Given the description of an element on the screen output the (x, y) to click on. 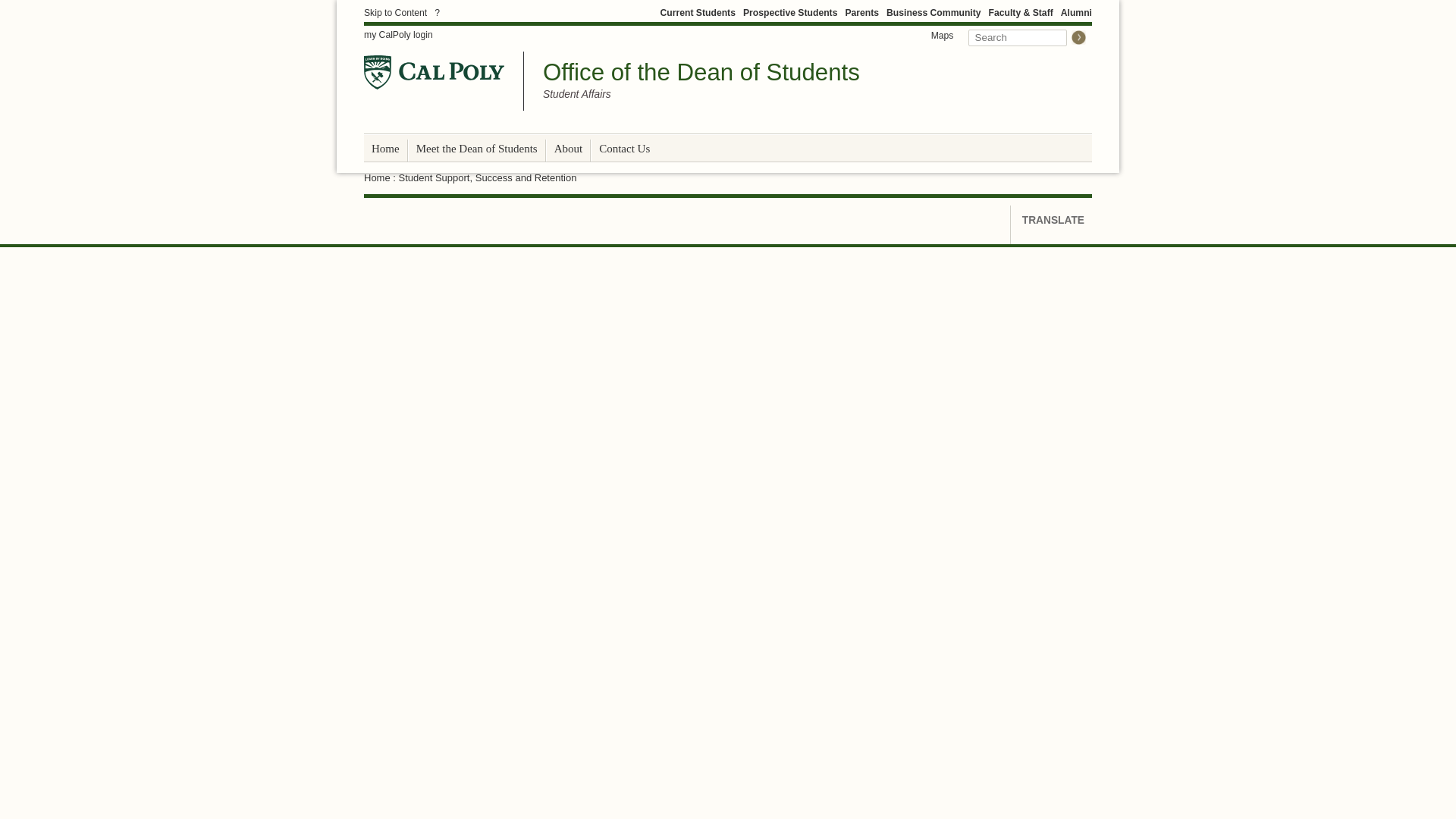
About (568, 148)
Business Community (932, 12)
Office of the Dean of Students (701, 72)
Go to Cal Poly Home (433, 72)
Home (384, 148)
Skip to Content (395, 12)
Submit Search Query (1078, 37)
my CalPoly login (398, 34)
my CalPoly login (398, 34)
Alumni (1076, 12)
Maps (943, 35)
Student Affairs (577, 94)
Meet the Dean of Students (476, 148)
Current Students (698, 12)
Search this site (1017, 37)
